Given the description of an element on the screen output the (x, y) to click on. 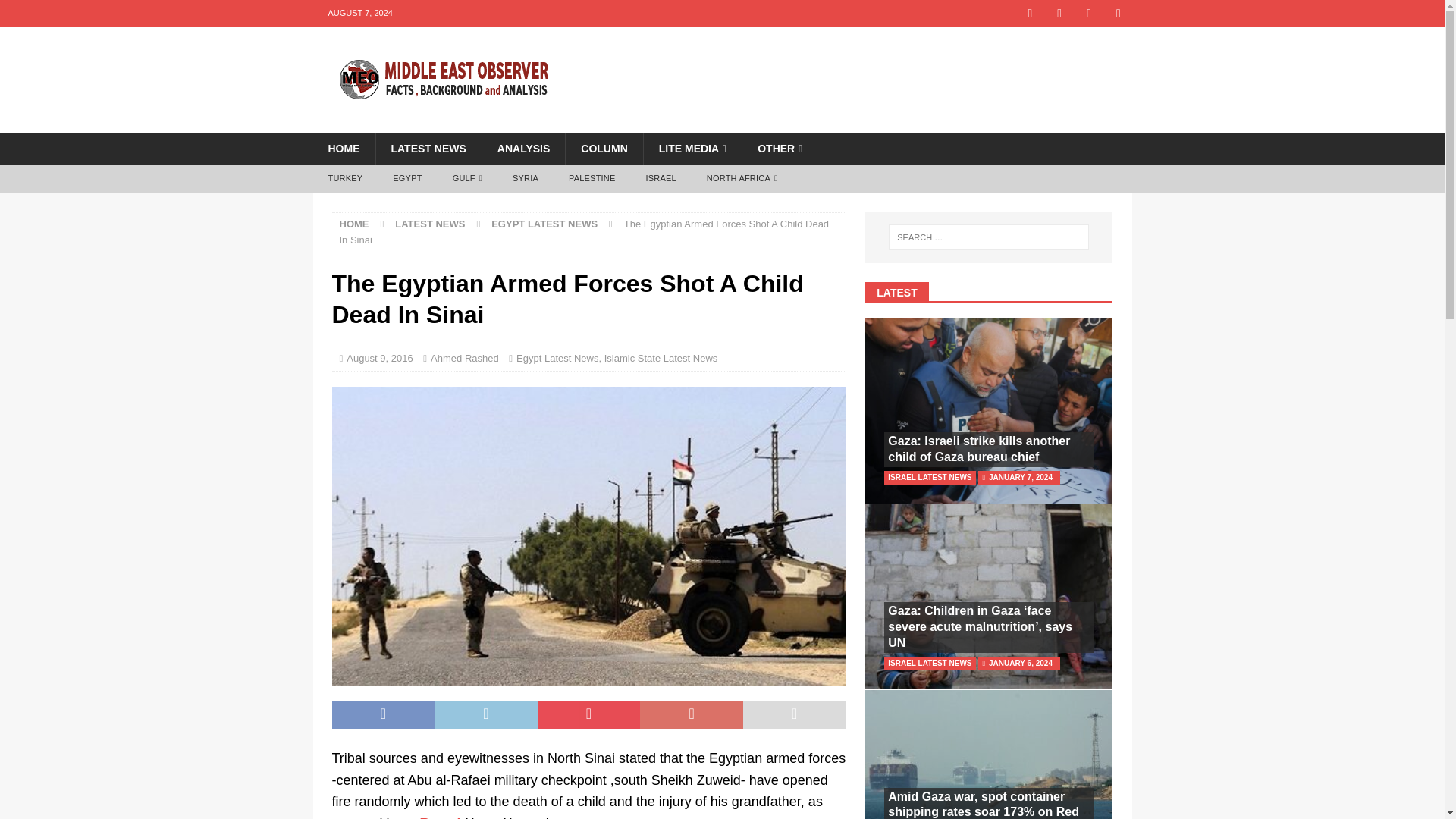
OTHER (778, 148)
LITE MEDIA (692, 148)
COLUMN (603, 148)
HOME (343, 148)
TURKEY (345, 178)
LATEST NEWS (427, 148)
ANALYSIS (523, 148)
GULF (467, 178)
EGYPT (406, 178)
